Given the description of an element on the screen output the (x, y) to click on. 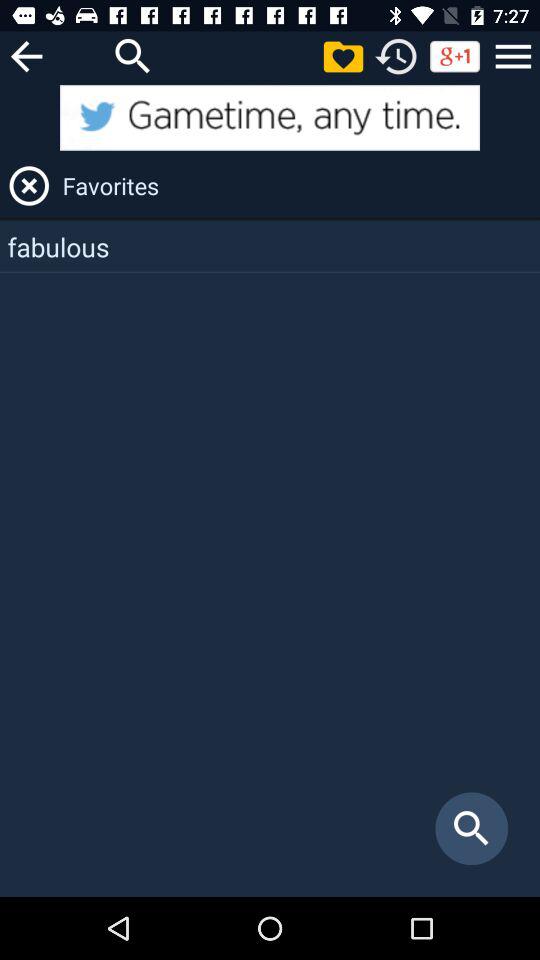
click icon at the bottom right corner (471, 828)
